Given the description of an element on the screen output the (x, y) to click on. 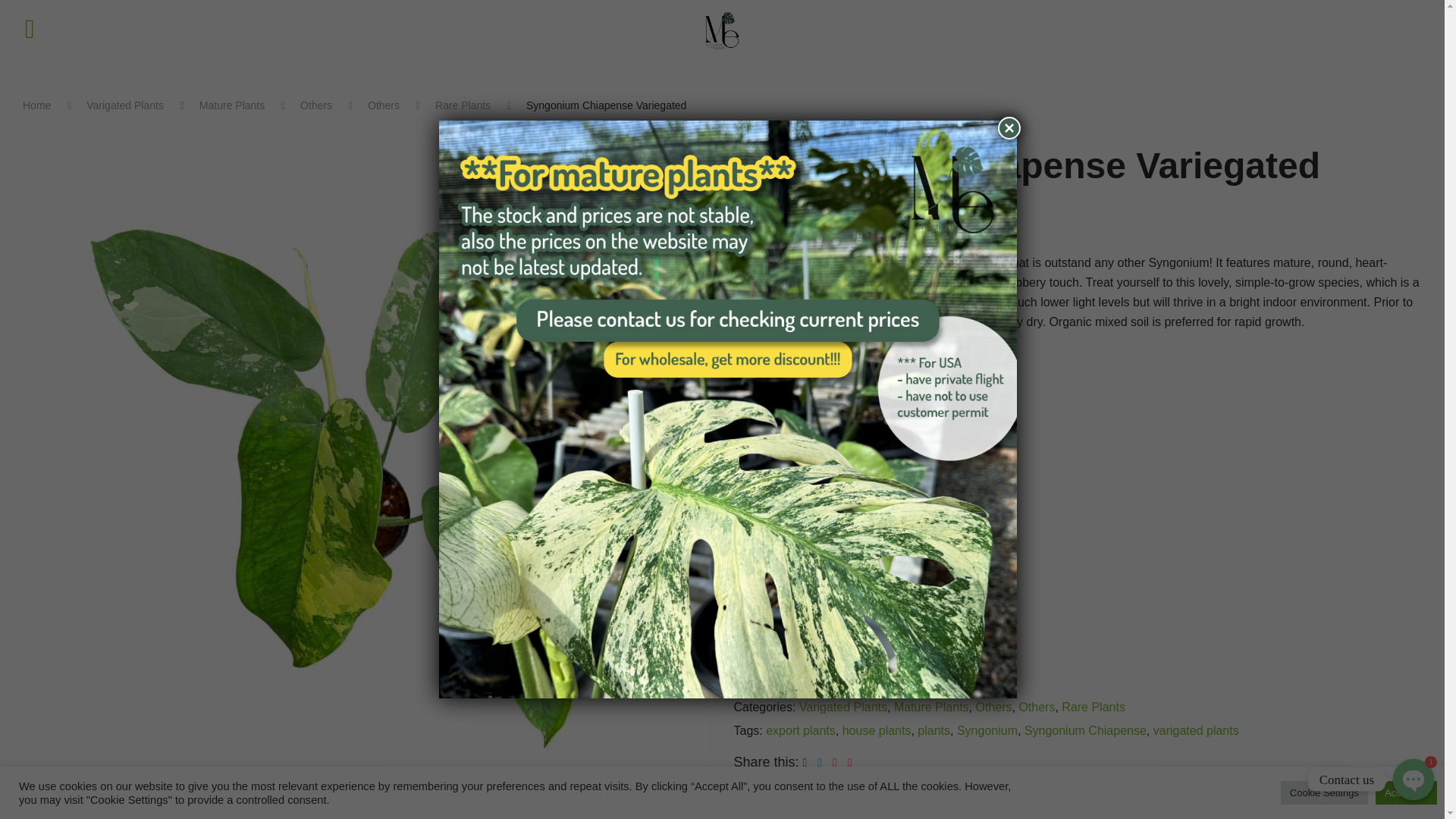
1 (767, 596)
Qty (767, 596)
